Given the description of an element on the screen output the (x, y) to click on. 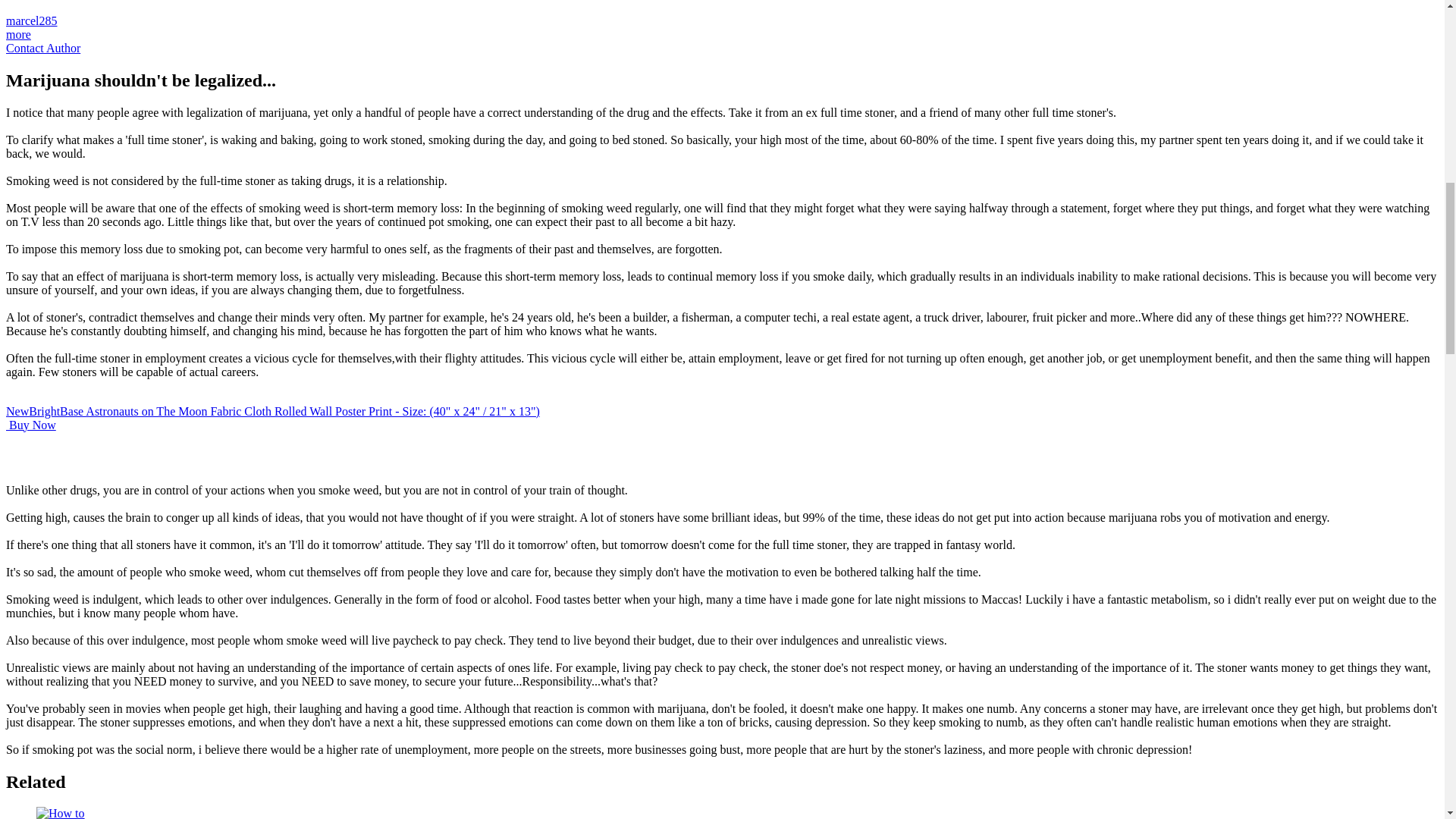
How to Recognize the Symptoms of Alzheimer's (65, 812)
 Buy Now (30, 424)
Contact Author (42, 47)
